Given the description of an element on the screen output the (x, y) to click on. 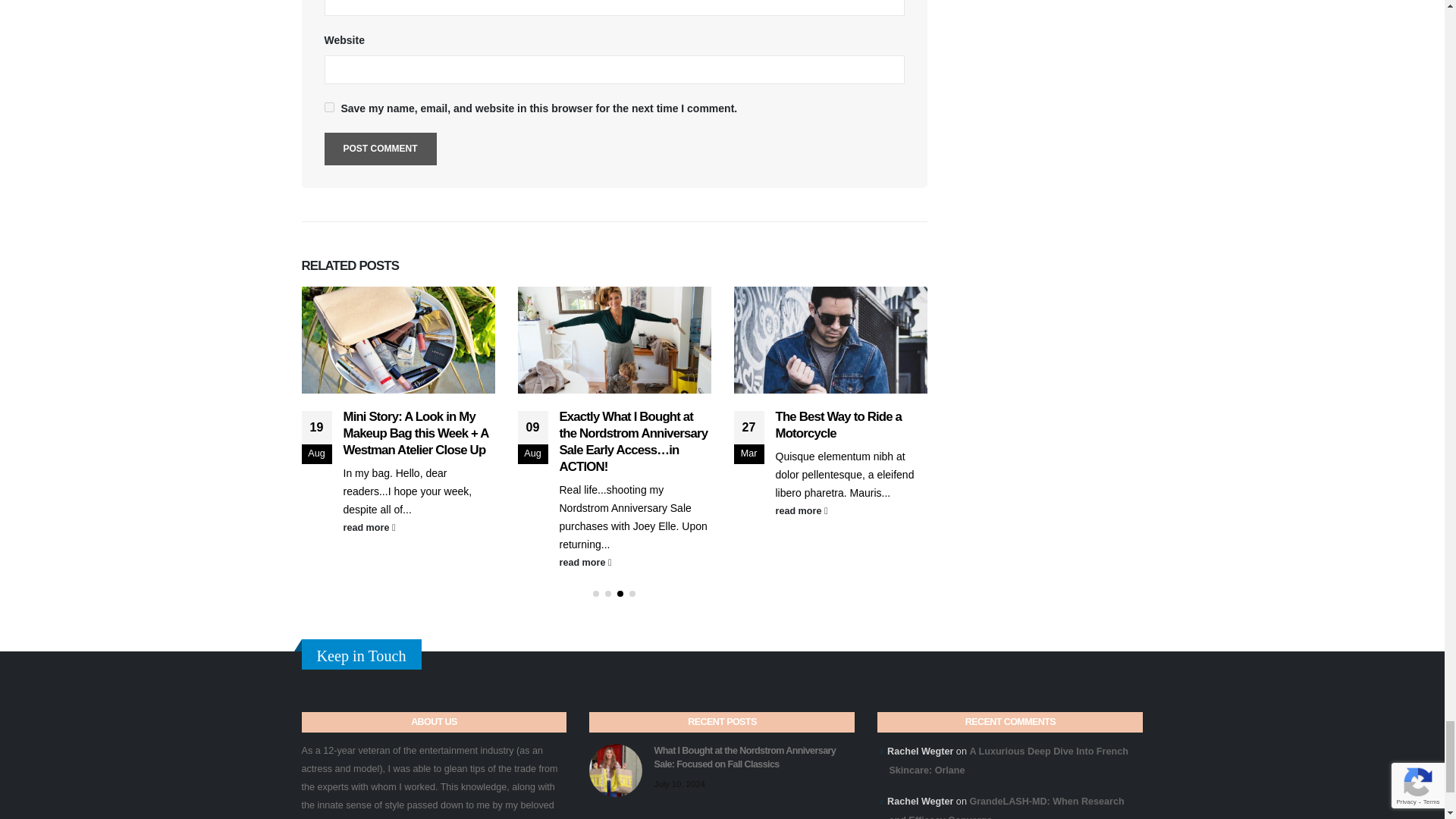
Post Comment (380, 148)
yes (329, 107)
